Given the description of an element on the screen output the (x, y) to click on. 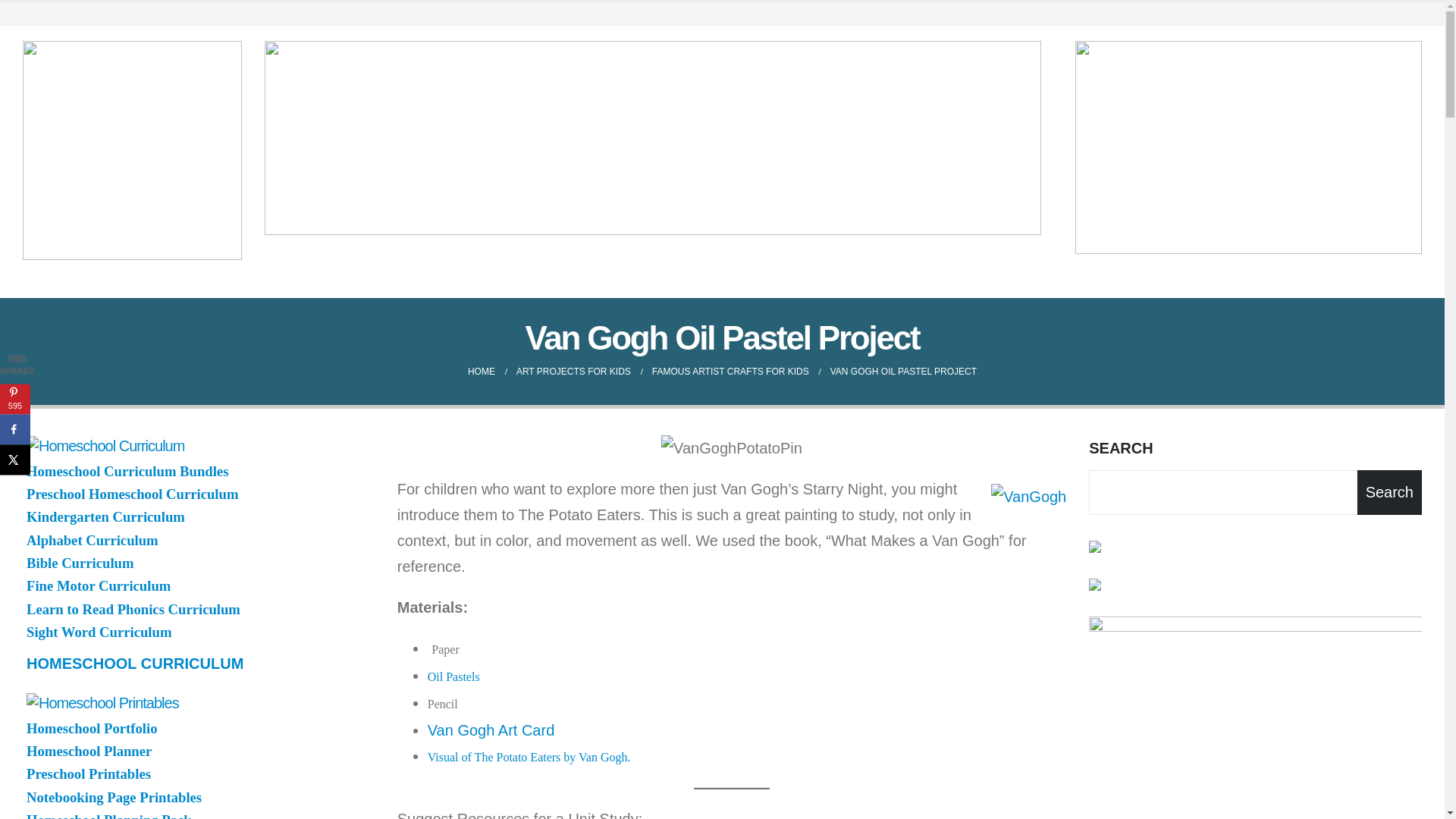
Van Gogh Art Card (491, 729)
Share on Facebook (15, 429)
ART PROJECTS FOR KIDS (573, 371)
FAMOUS ARTIST CRAFTS FOR KIDS (730, 371)
Following Directions Worksheets (1248, 146)
Share on X (15, 459)
Go to Home Page (481, 371)
Save to Pinterest (15, 399)
Oil Pastels (454, 675)
HOME (481, 371)
Visual of The Potato Eaters by Van Gogh. (529, 755)
